Given the description of an element on the screen output the (x, y) to click on. 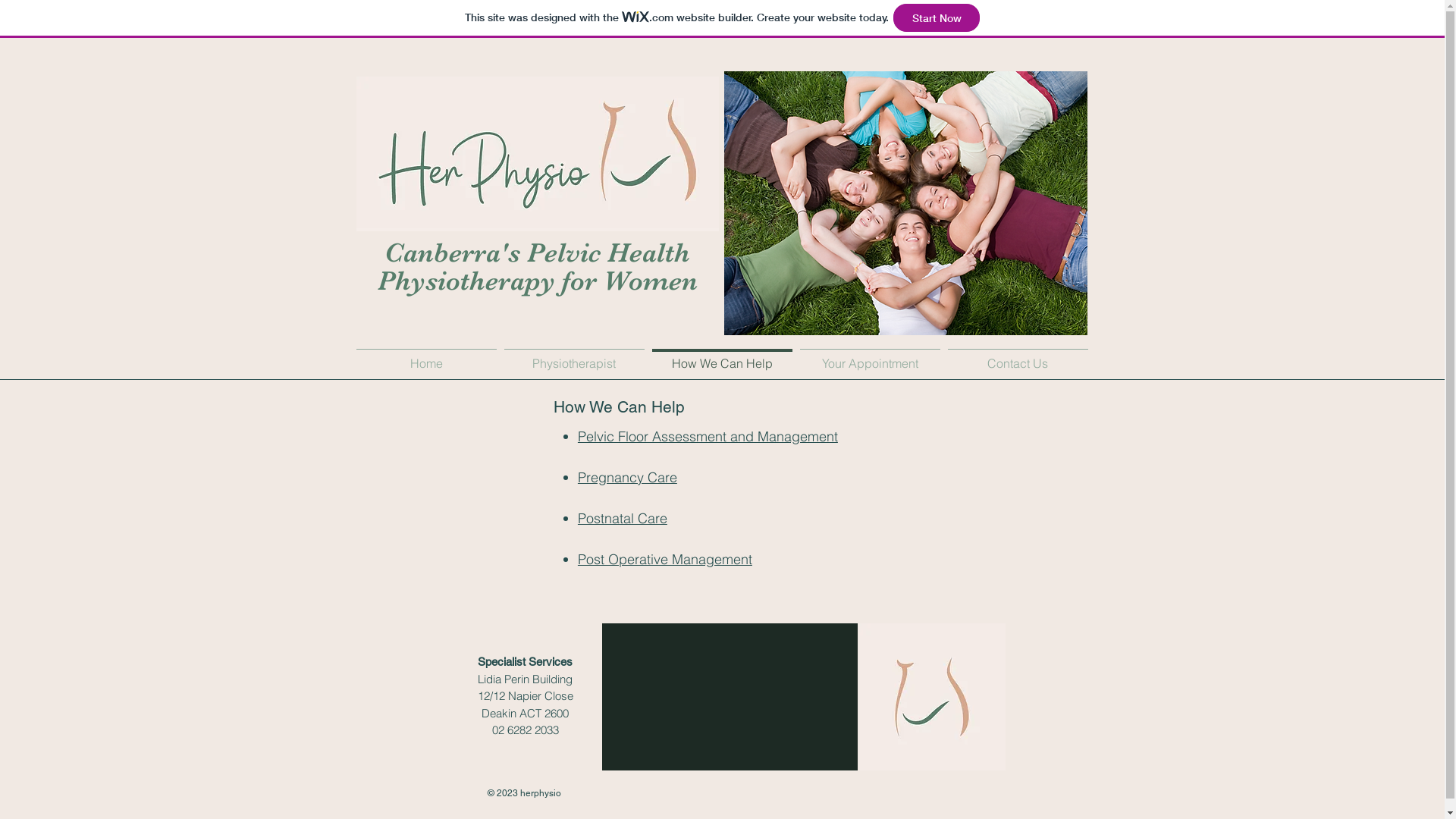
Post Operative Management Element type: text (664, 558)
Pelvic Floor Assessment and Management Element type: text (707, 436)
Contact Us Element type: text (1017, 356)
Postnatal Care Element type: text (622, 518)
Home Element type: text (425, 356)
Her_Physio_Logo_on_Prairie_Body_Only.jpg Element type: hover (931, 696)
Physiotherapist Element type: text (574, 356)
Google Maps Element type: hover (729, 696)
Pregnancy Care Element type: text (627, 477)
How We Can Help Element type: text (721, 356)
Your Appointment Element type: text (870, 356)
